Given the description of an element on the screen output the (x, y) to click on. 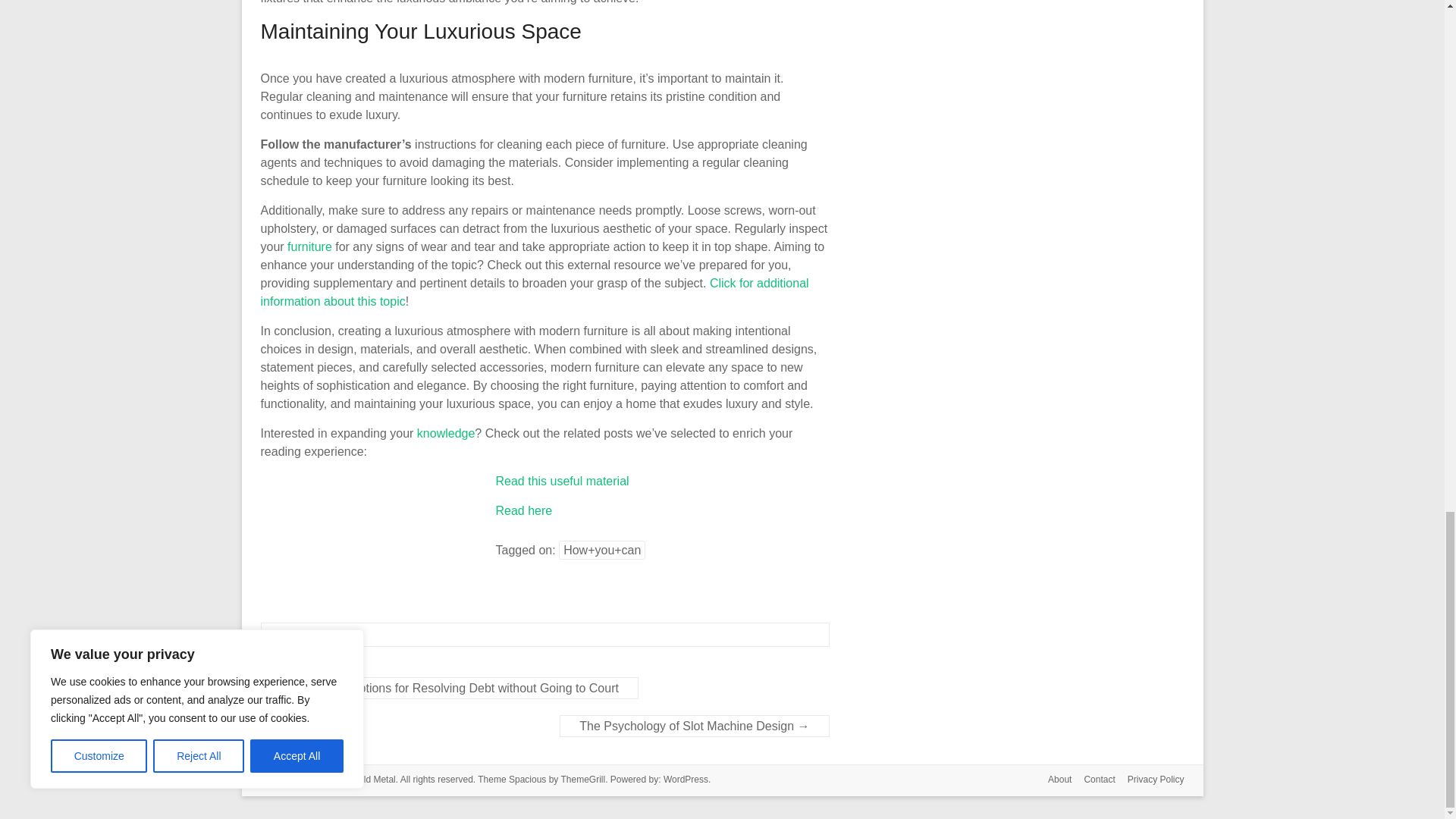
Read this useful material (562, 481)
furniture (308, 246)
WordPress (685, 778)
General (301, 634)
Click for additional information about this topic (534, 291)
knowledge (446, 432)
400 Gold Metal (363, 778)
Read here (524, 510)
Spacious (527, 778)
